Given the description of an element on the screen output the (x, y) to click on. 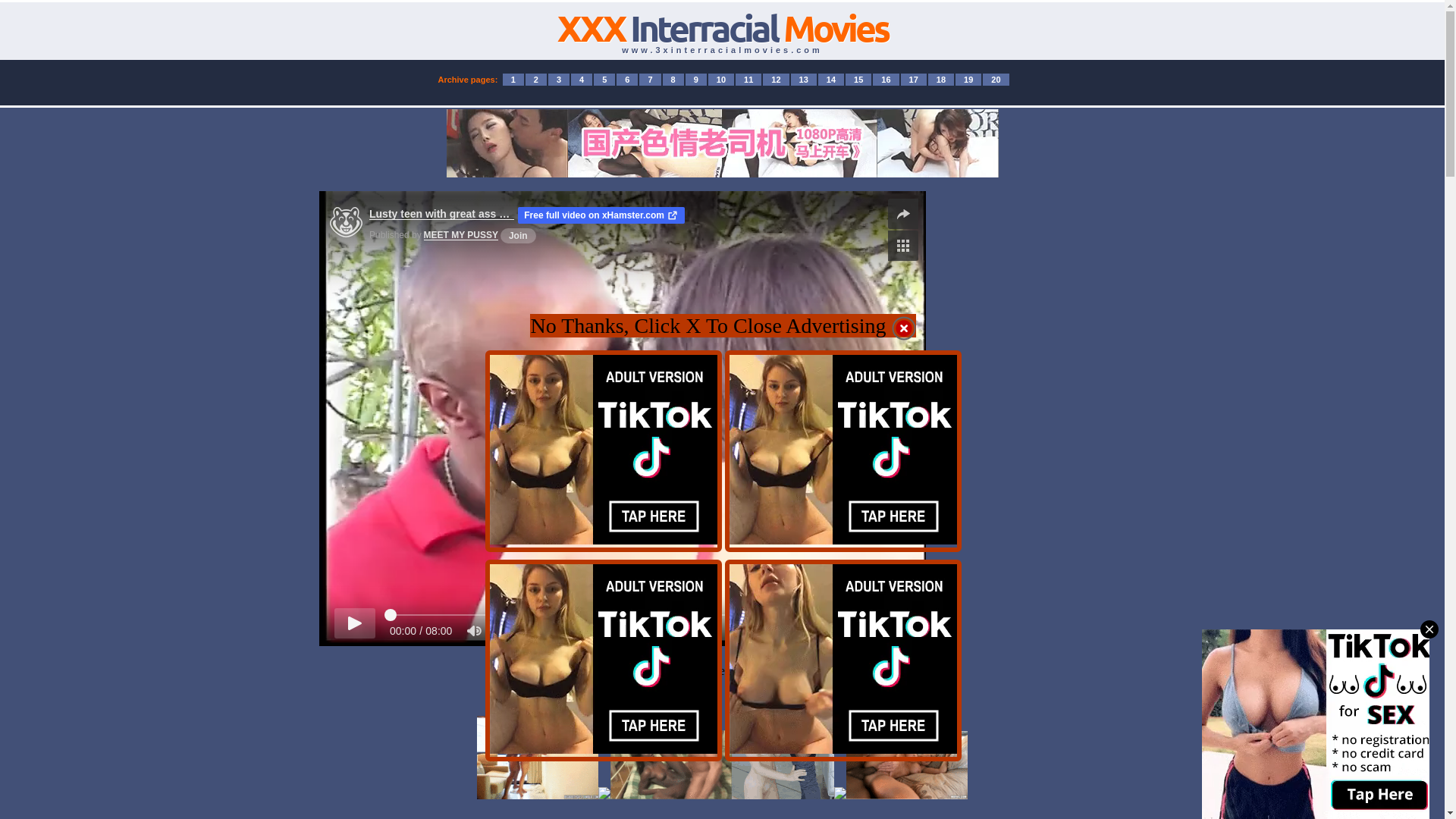
7 Element type: text (649, 79)
5 Element type: text (604, 79)
6 Element type: text (626, 79)
12 Element type: text (775, 79)
9 Element type: text (695, 79)
20 Element type: text (995, 79)
17 Element type: text (913, 79)
13 Element type: text (803, 79)
10 Element type: text (721, 79)
No Thanks, Click X To Close Advertising Element type: text (722, 328)
4 Element type: text (581, 79)
14 Element type: text (831, 79)
15 Element type: text (858, 79)
8 Element type: text (673, 79)
19 Element type: text (968, 79)
1 Element type: text (513, 79)
2 Element type: text (535, 79)
11 Element type: text (748, 79)
16 Element type: text (885, 79)
3 Element type: text (558, 79)
18 Element type: text (940, 79)
